Given the description of an element on the screen output the (x, y) to click on. 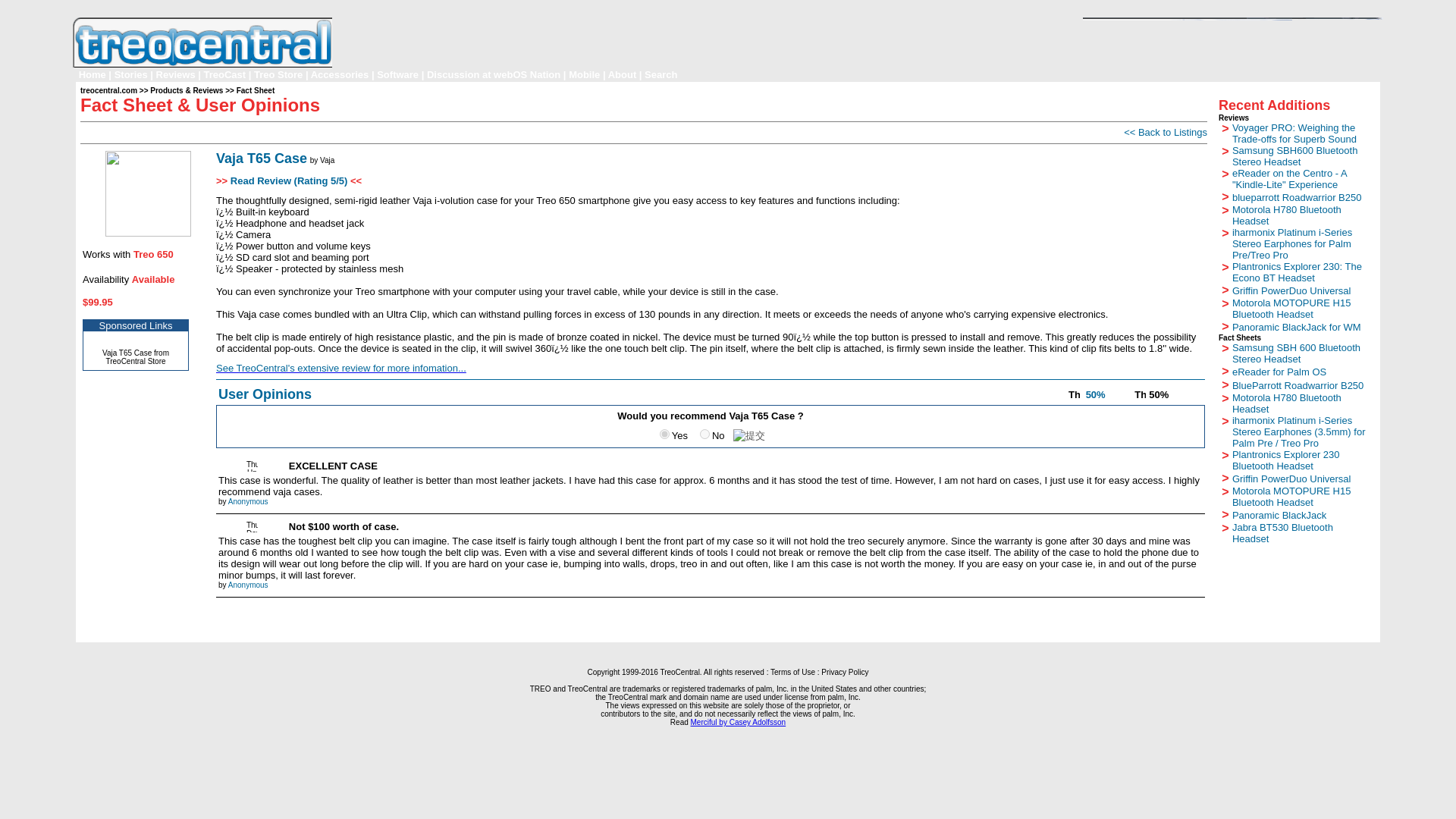
Anonymous (247, 583)
Search (661, 74)
Samsung SBH600 Bluetooth Stereo Headset (1294, 155)
Mobile (584, 74)
Panoramic BlackJack for WM (1296, 326)
Accessories (340, 74)
blueparrott Roadwarrior B250 (1296, 195)
eReader on the Centro - A "Kindle-Lite" Experience (1288, 178)
no (705, 433)
Reviews (175, 74)
Griffin PowerDuo Universal (1291, 289)
Vaja (327, 160)
Fact Sheet (255, 90)
Treo Store (277, 74)
Plantronics Explorer 230: The Econo BT Headset (1296, 271)
